Given the description of an element on the screen output the (x, y) to click on. 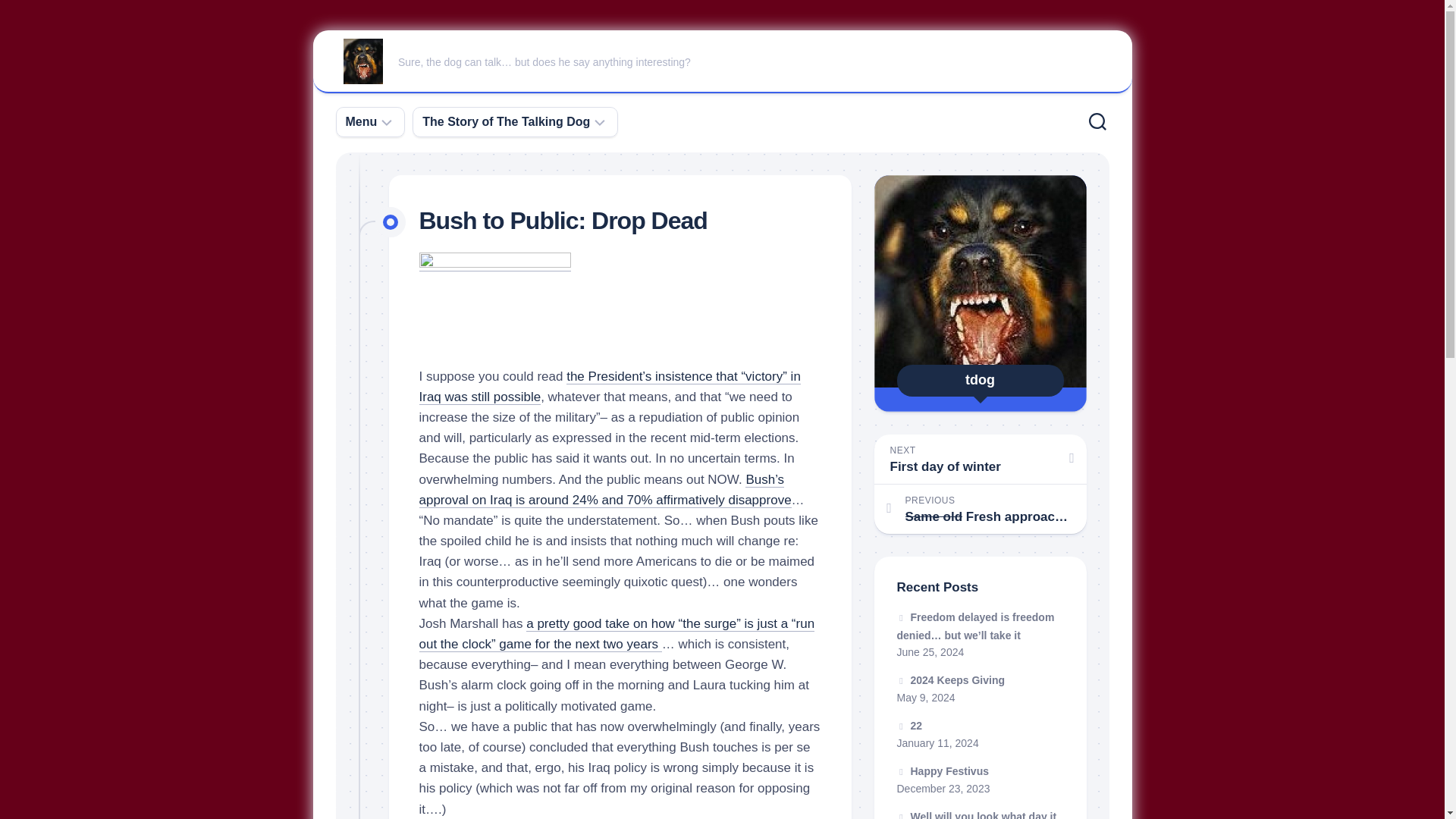
The Story of The Talking Dog (505, 121)
Menu (361, 121)
